Given the description of an element on the screen output the (x, y) to click on. 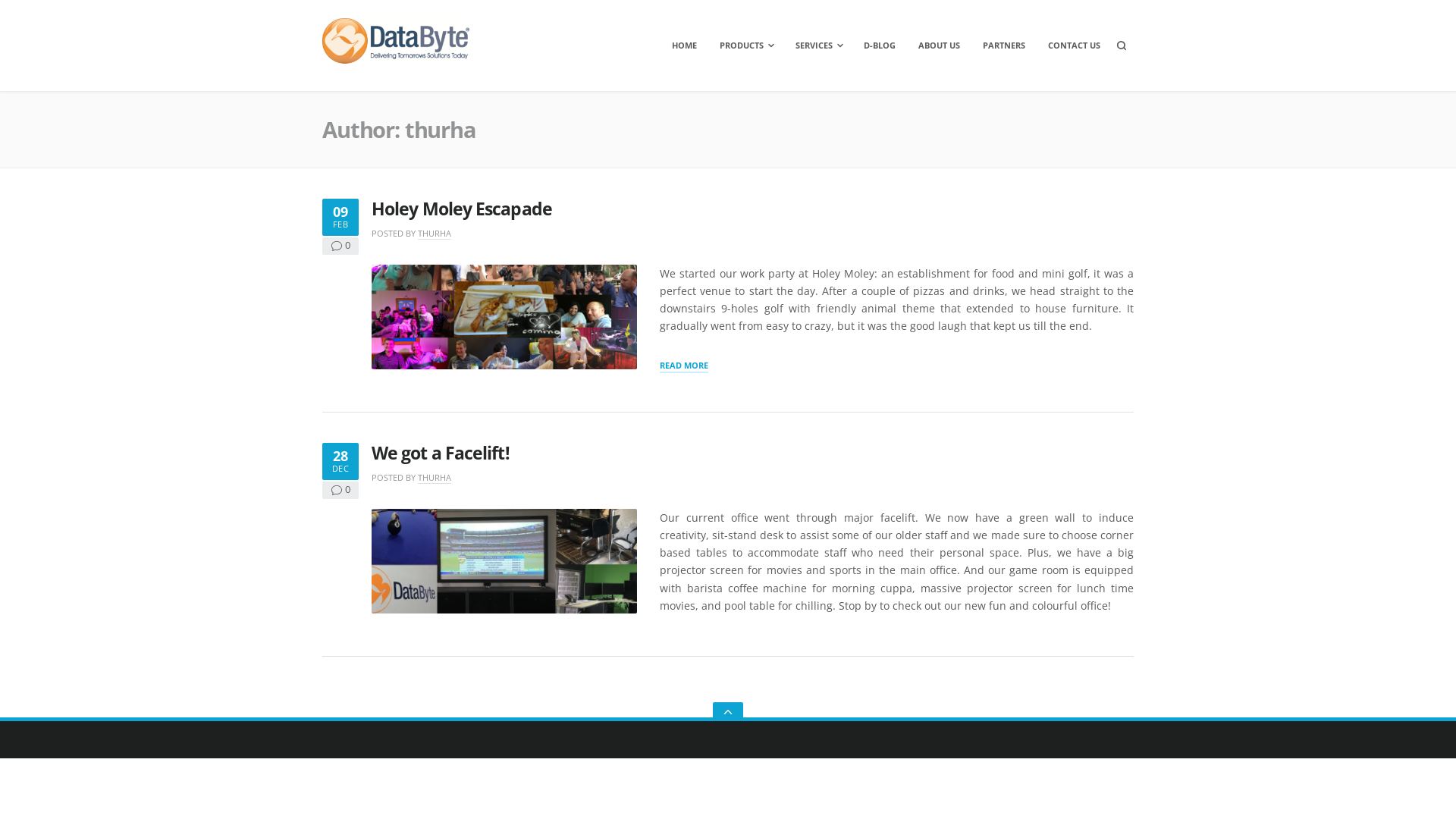
We got a Facelift! Element type: text (440, 452)
HOME Element type: text (684, 45)
CONTACT US Element type: text (1073, 45)
THURHA Element type: text (434, 477)
Holey Moley Escapade Element type: text (461, 208)
ABOUT US Element type: text (939, 45)
SERVICES Element type: text (818, 45)
PRODUCTS Element type: text (745, 45)
OPEN A SEARCH BOX Element type: text (1121, 45)
GO TO THE TOP Element type: text (727, 711)
THURHA Element type: text (434, 233)
D-BLOG Element type: text (879, 45)
PARTNERS Element type: text (1003, 45)
